Given the description of an element on the screen output the (x, y) to click on. 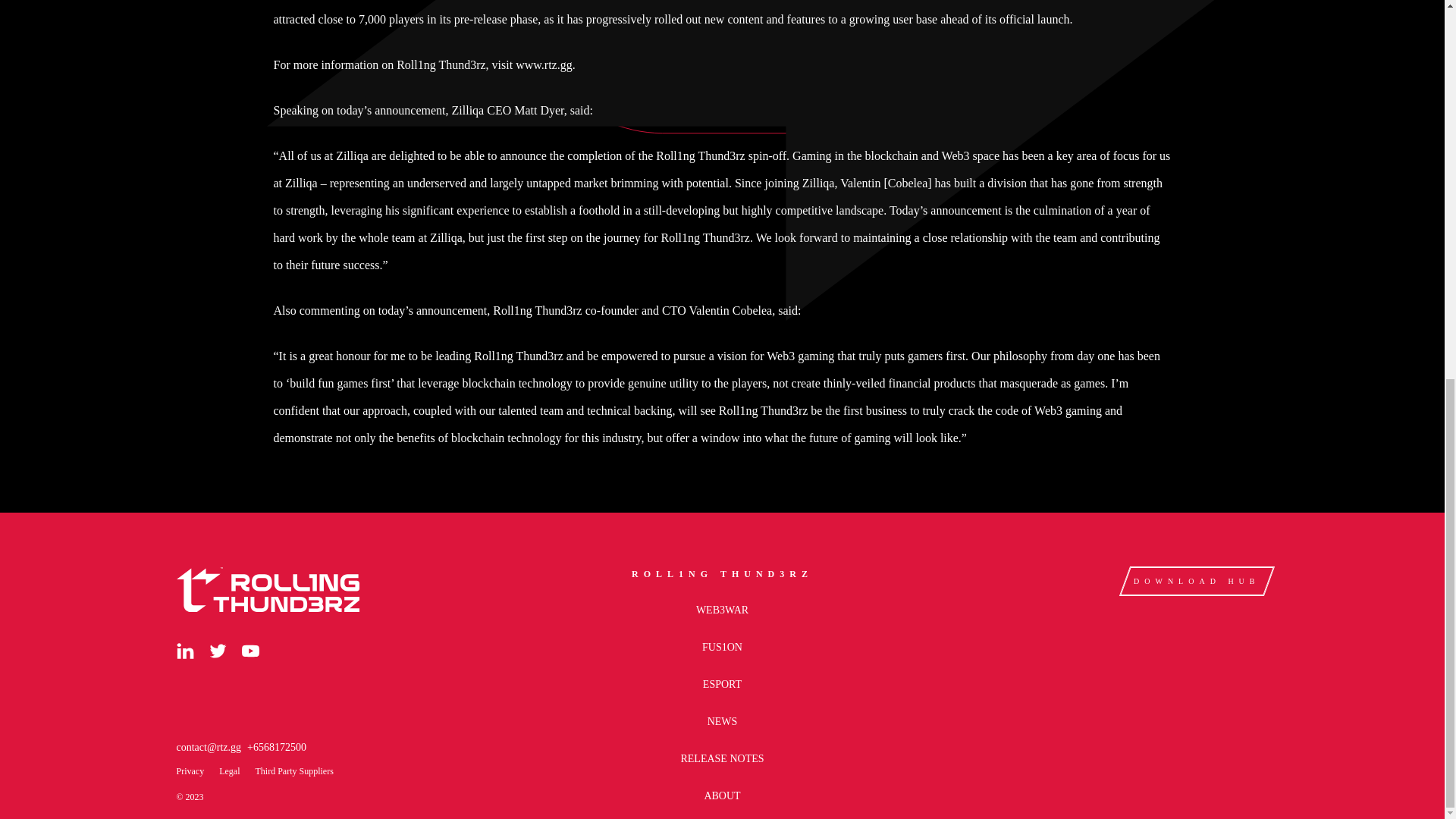
www.rtz.gg. (545, 64)
WEB3WAR (721, 609)
DOWNLOAD HUB (1191, 581)
RELEASE NOTES (720, 758)
Third Party Suppliers (293, 770)
FUS1ON (721, 646)
ESPORT (722, 684)
ABOUT (721, 795)
Legal (229, 770)
Privacy (189, 770)
